Given the description of an element on the screen output the (x, y) to click on. 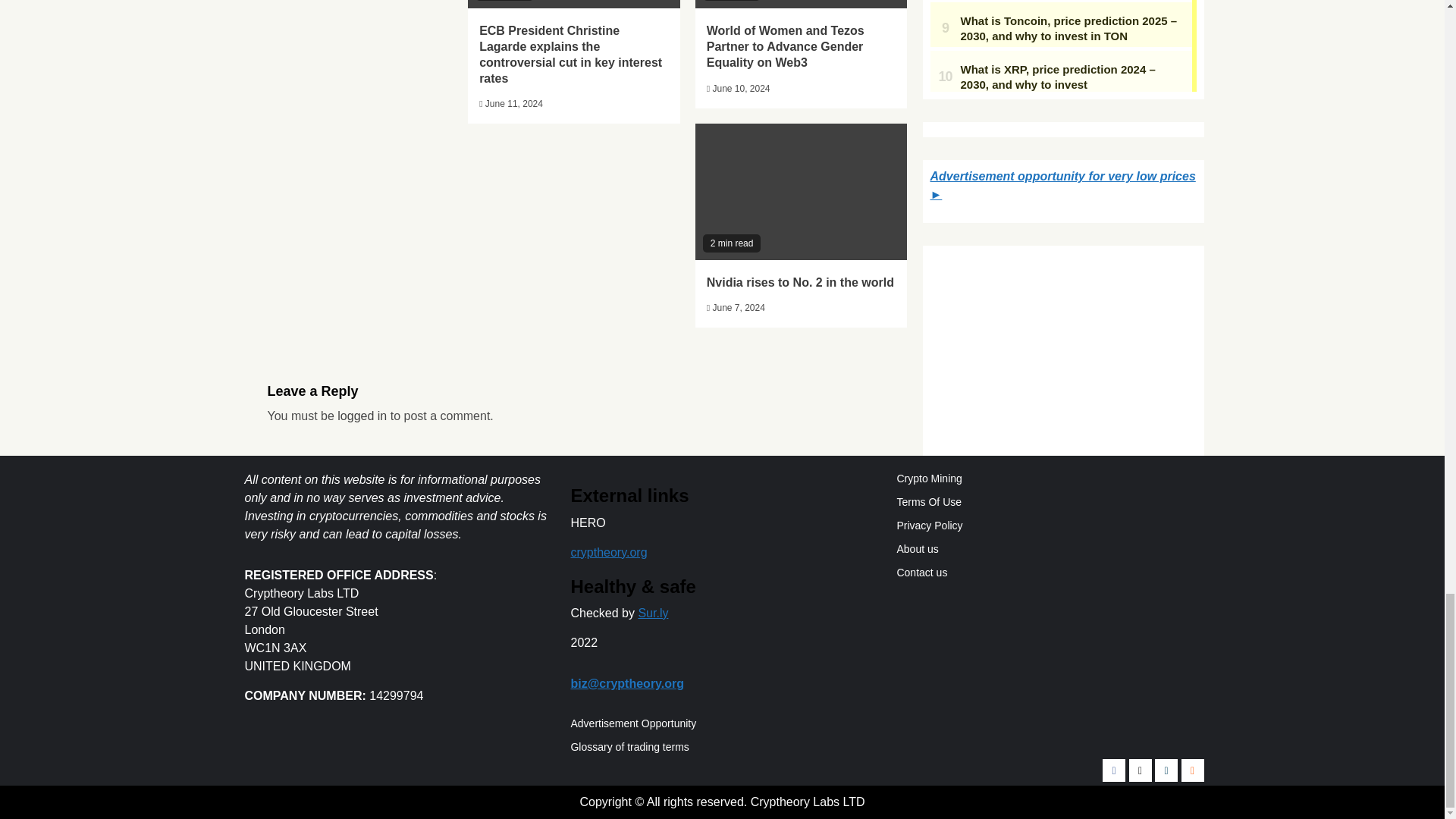
Nvidia rises to No. 2 in the world 34 (801, 191)
